Given the description of an element on the screen output the (x, y) to click on. 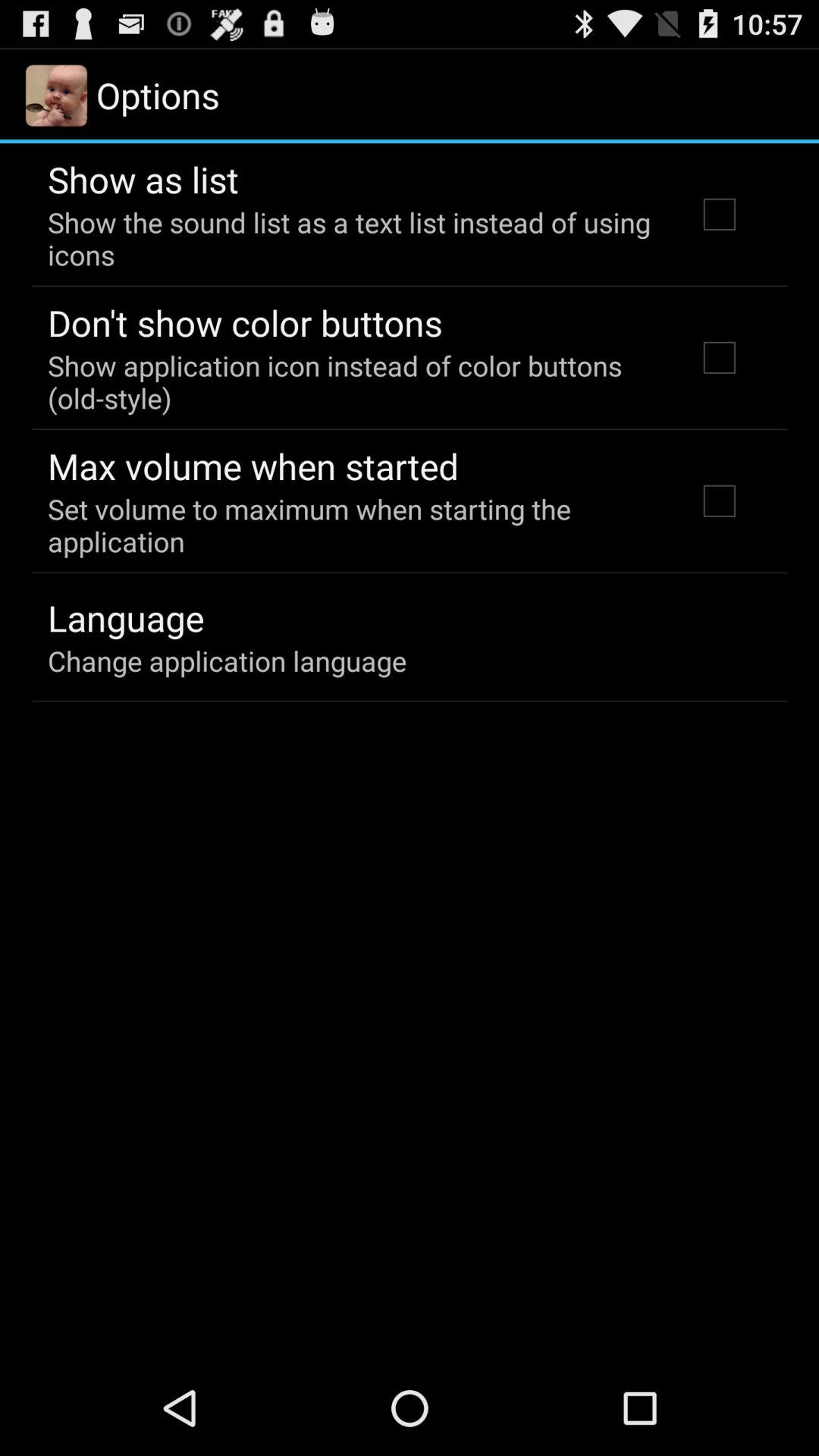
turn off item above the don t show app (351, 238)
